Given the description of an element on the screen output the (x, y) to click on. 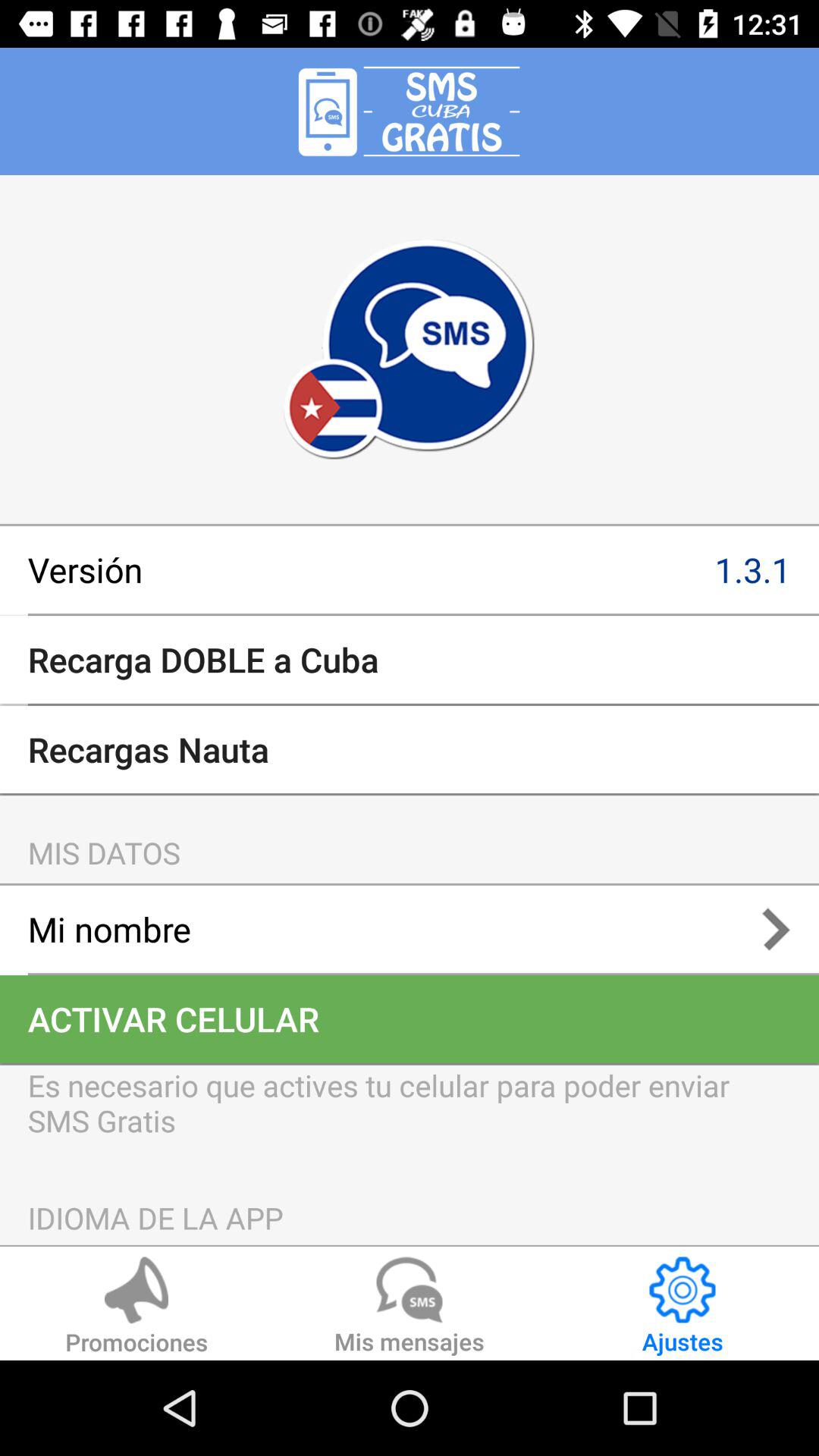
jump to the recarga doble a item (409, 659)
